Given the description of an element on the screen output the (x, y) to click on. 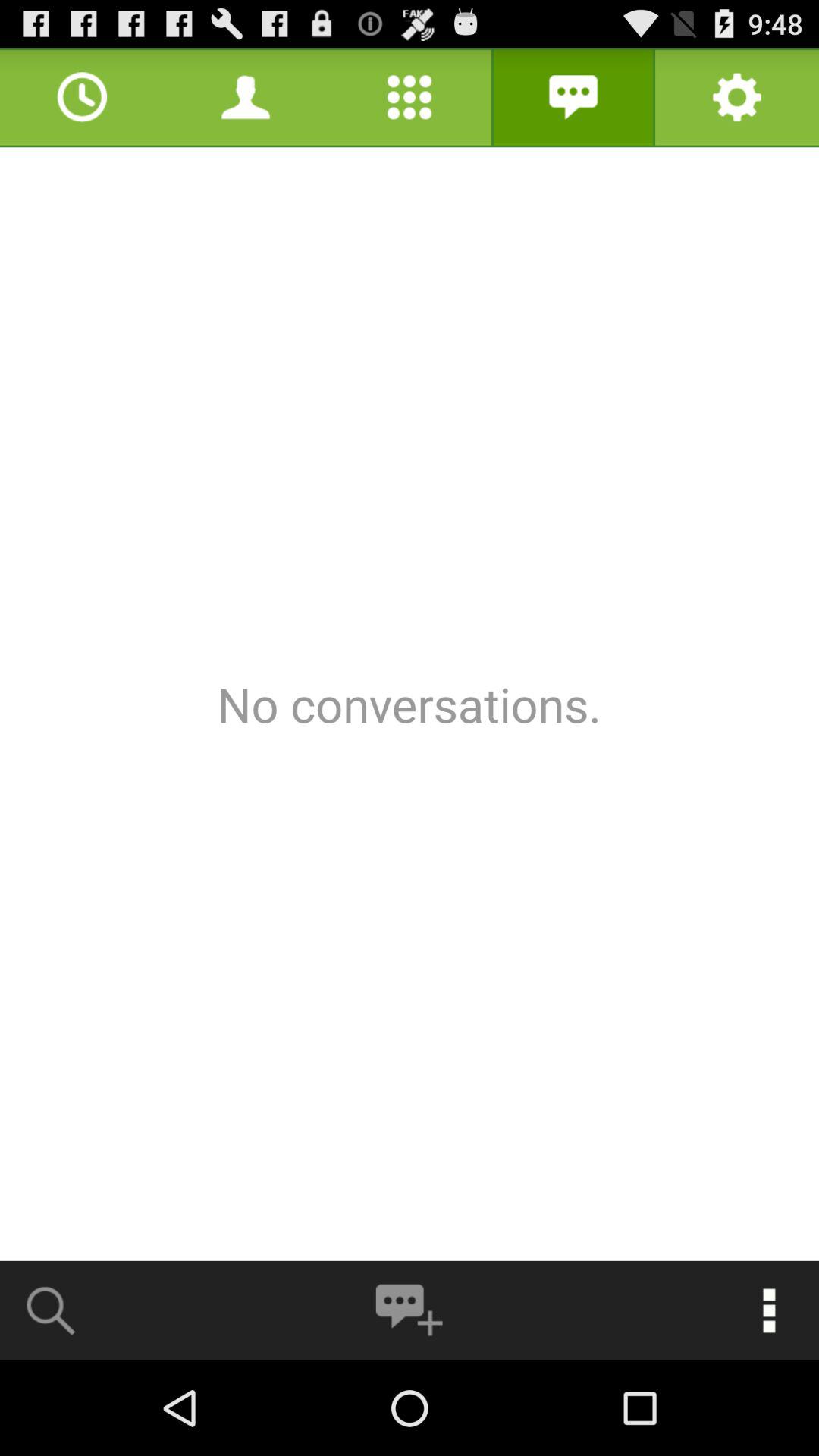
new conversation (409, 1310)
